Given the description of an element on the screen output the (x, y) to click on. 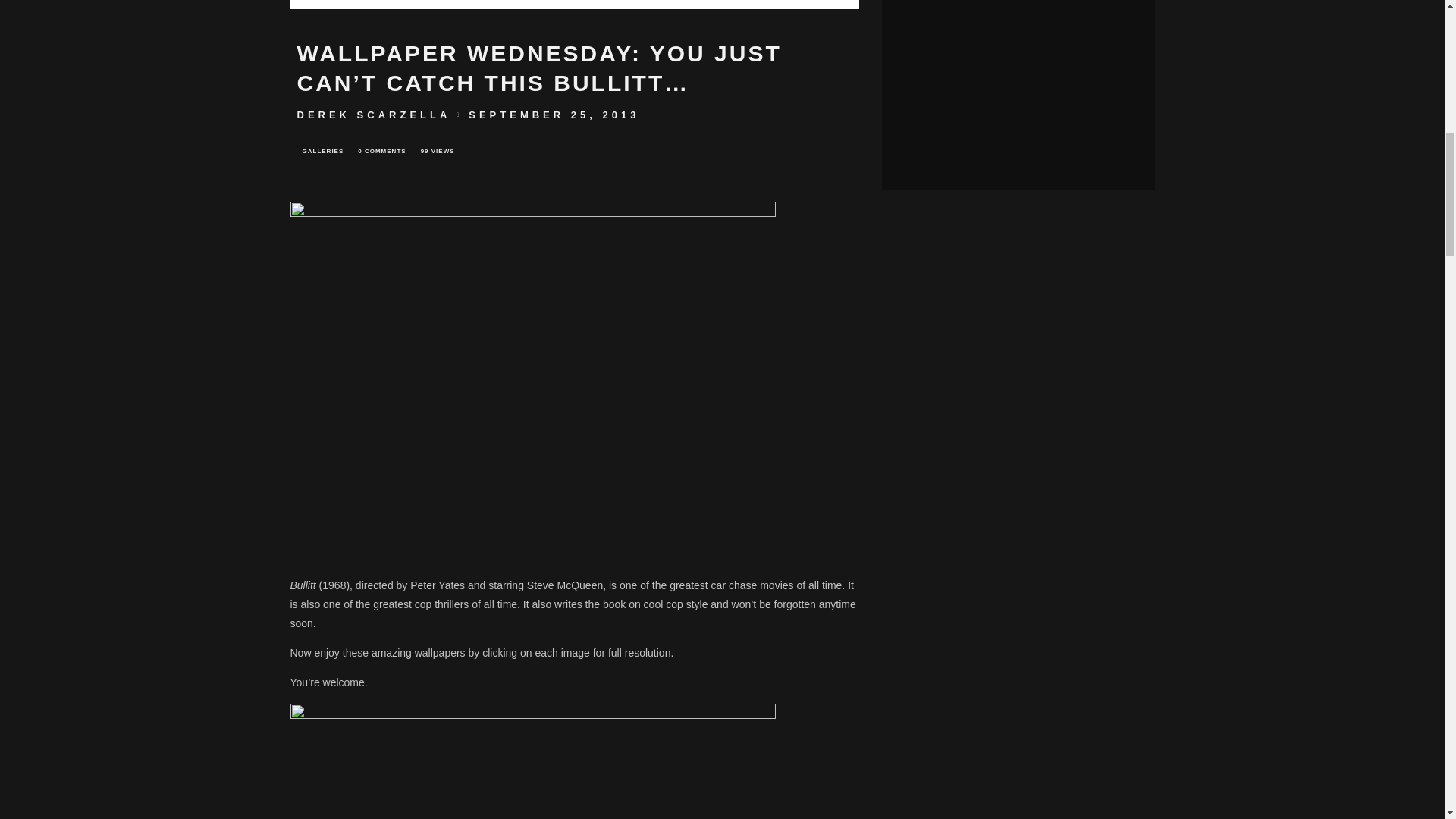
View all posts in Galleries (323, 151)
GALLERIES (323, 151)
Advertisement (1002, 56)
DEREK SCARZELLA (374, 114)
0 COMMENTS (381, 151)
